Given the description of an element on the screen output the (x, y) to click on. 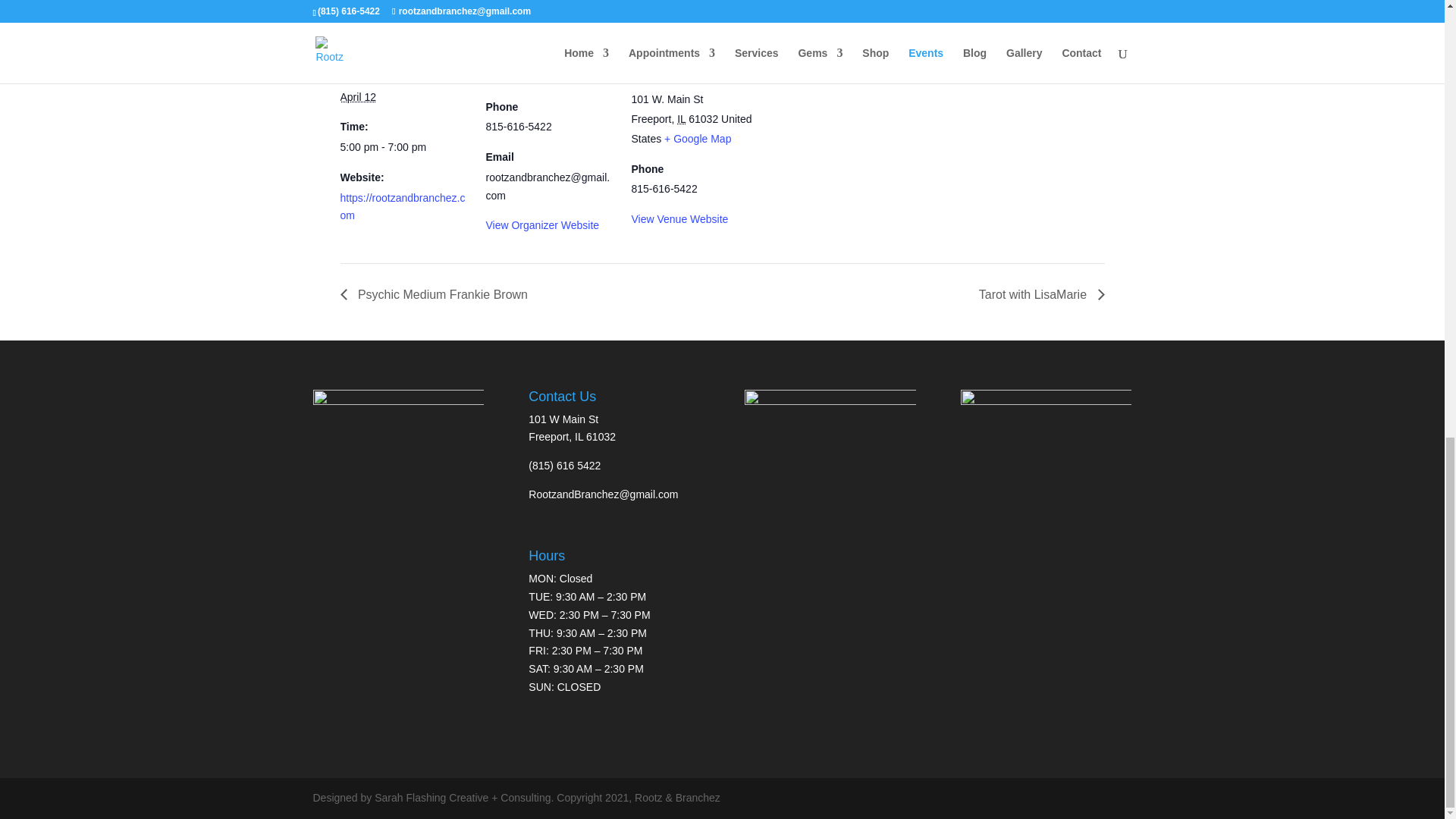
View Organizer Website (541, 224)
2024-04-12 (357, 96)
View Venue Website (679, 218)
Psychic Medium Frankie Brown (437, 294)
Click to view a Google Map (696, 138)
Tarot with LisaMarie (1038, 294)
2024-04-12 (403, 147)
